Given the description of an element on the screen output the (x, y) to click on. 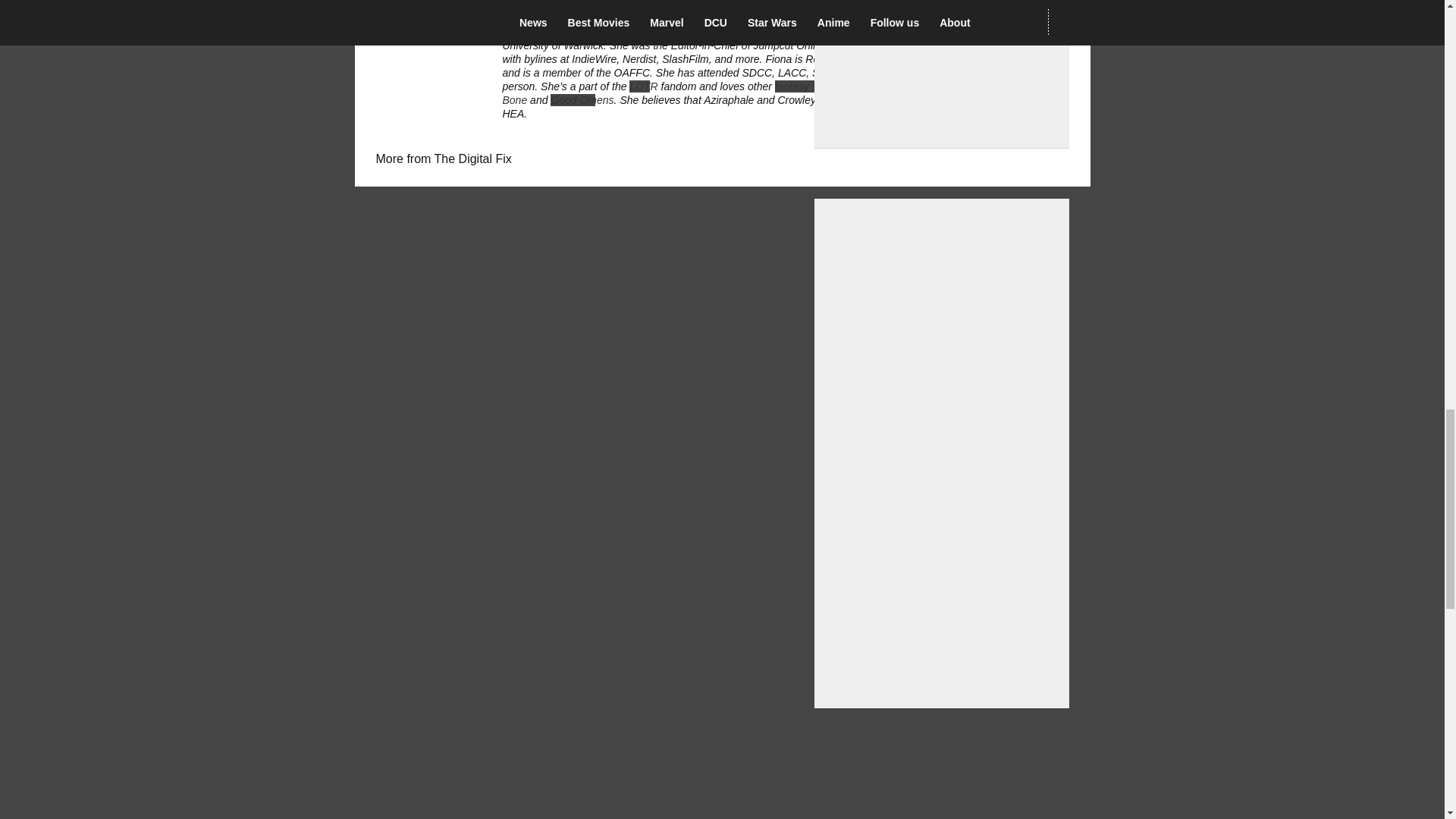
Fiona Underhill (540, 18)
